Given the description of an element on the screen output the (x, y) to click on. 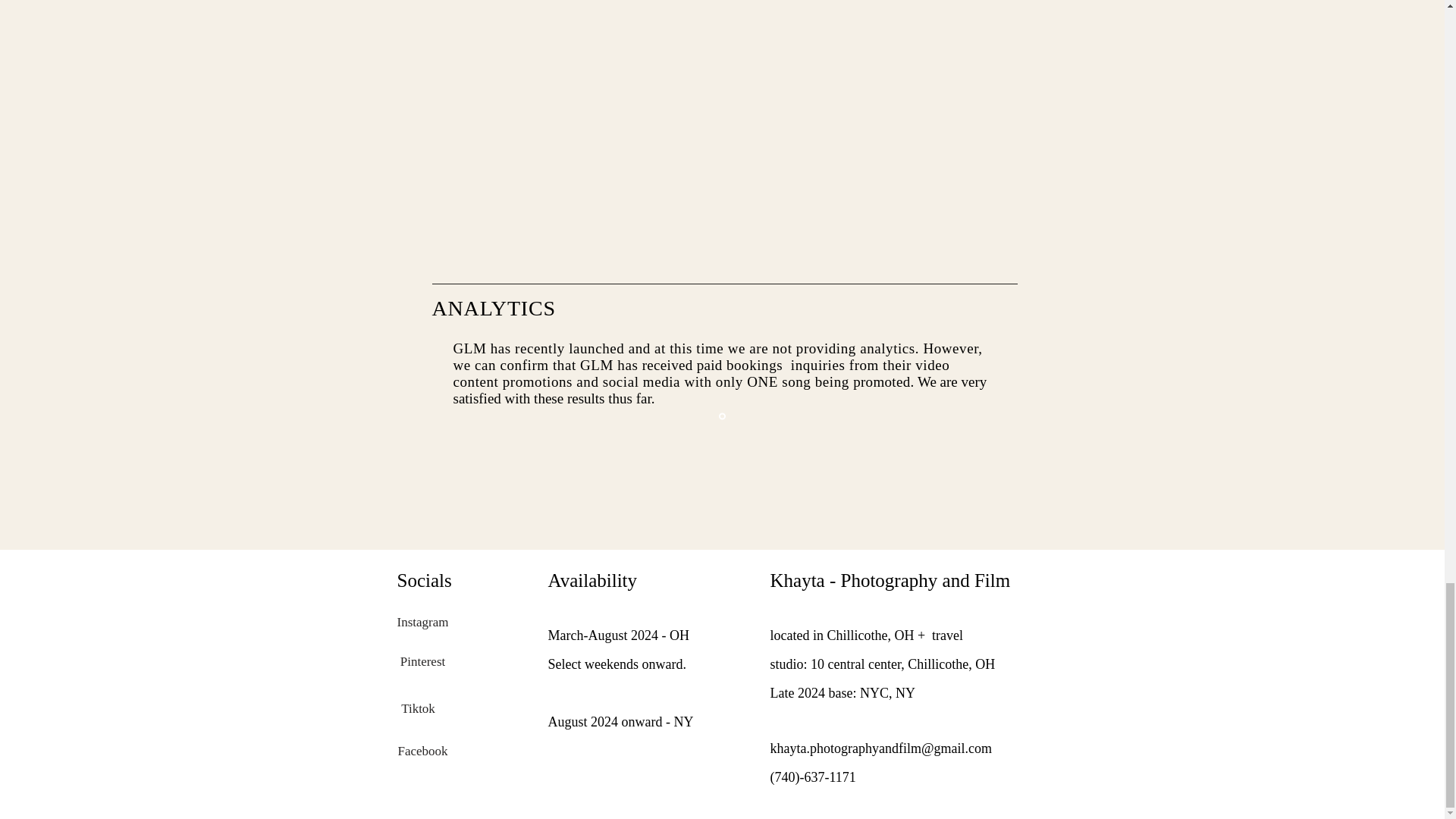
Pinterest (422, 662)
Wix.com (826, 568)
Instagram (426, 622)
Facebook (422, 751)
Proudly created with (757, 568)
Tiktok (417, 708)
